Given the description of an element on the screen output the (x, y) to click on. 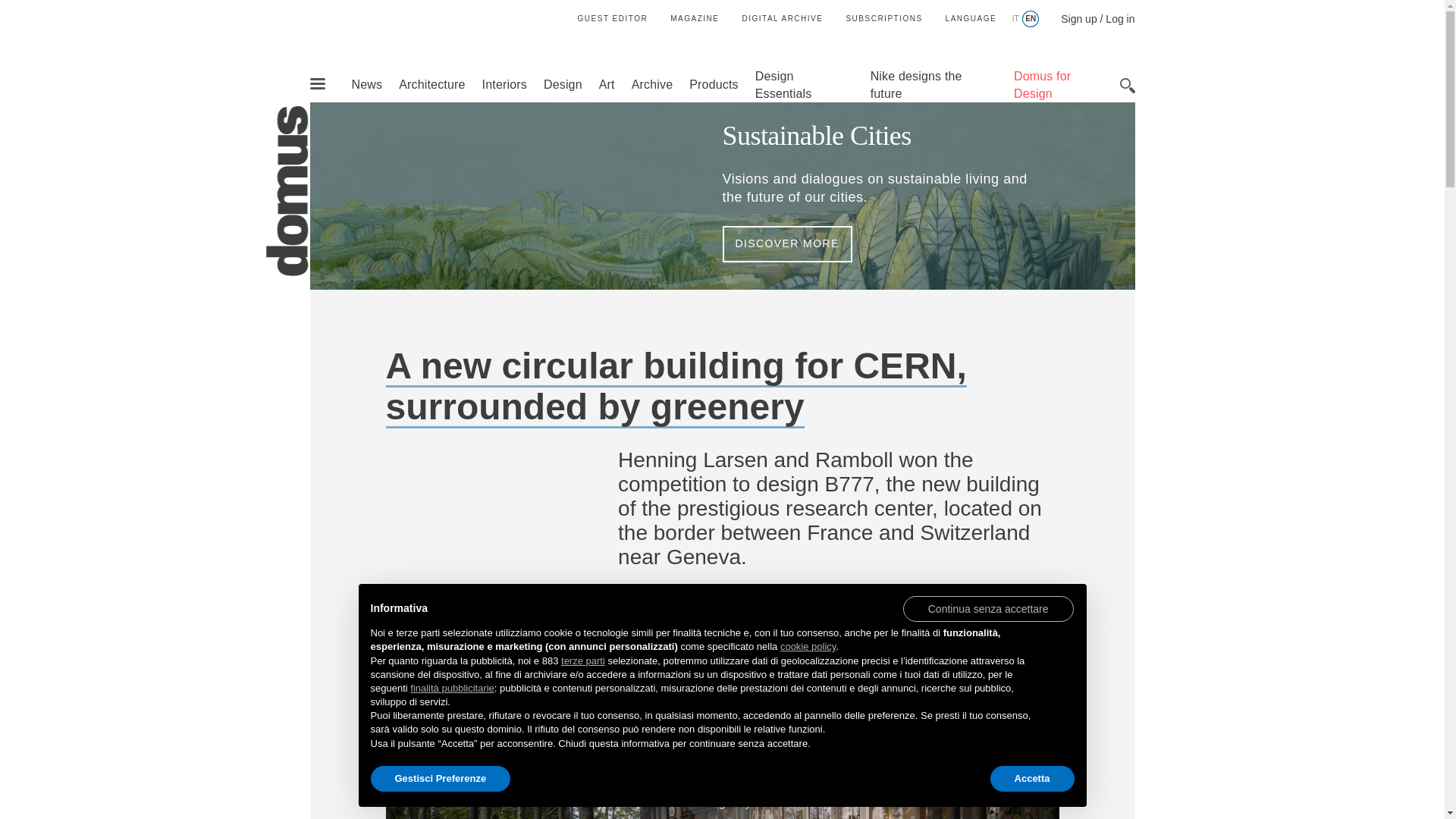
MAGAZINE (694, 18)
Design Essentials (783, 84)
Art (606, 83)
Archive (651, 83)
Architecture (431, 83)
Design (562, 83)
Domus for Design (1041, 84)
DIGITAL ARCHIVE (781, 18)
Products (713, 83)
IT (1015, 18)
Sign up (1078, 19)
News (365, 83)
Nike designs the future (916, 84)
EN (1030, 18)
Log in (1119, 19)
